Given the description of an element on the screen output the (x, y) to click on. 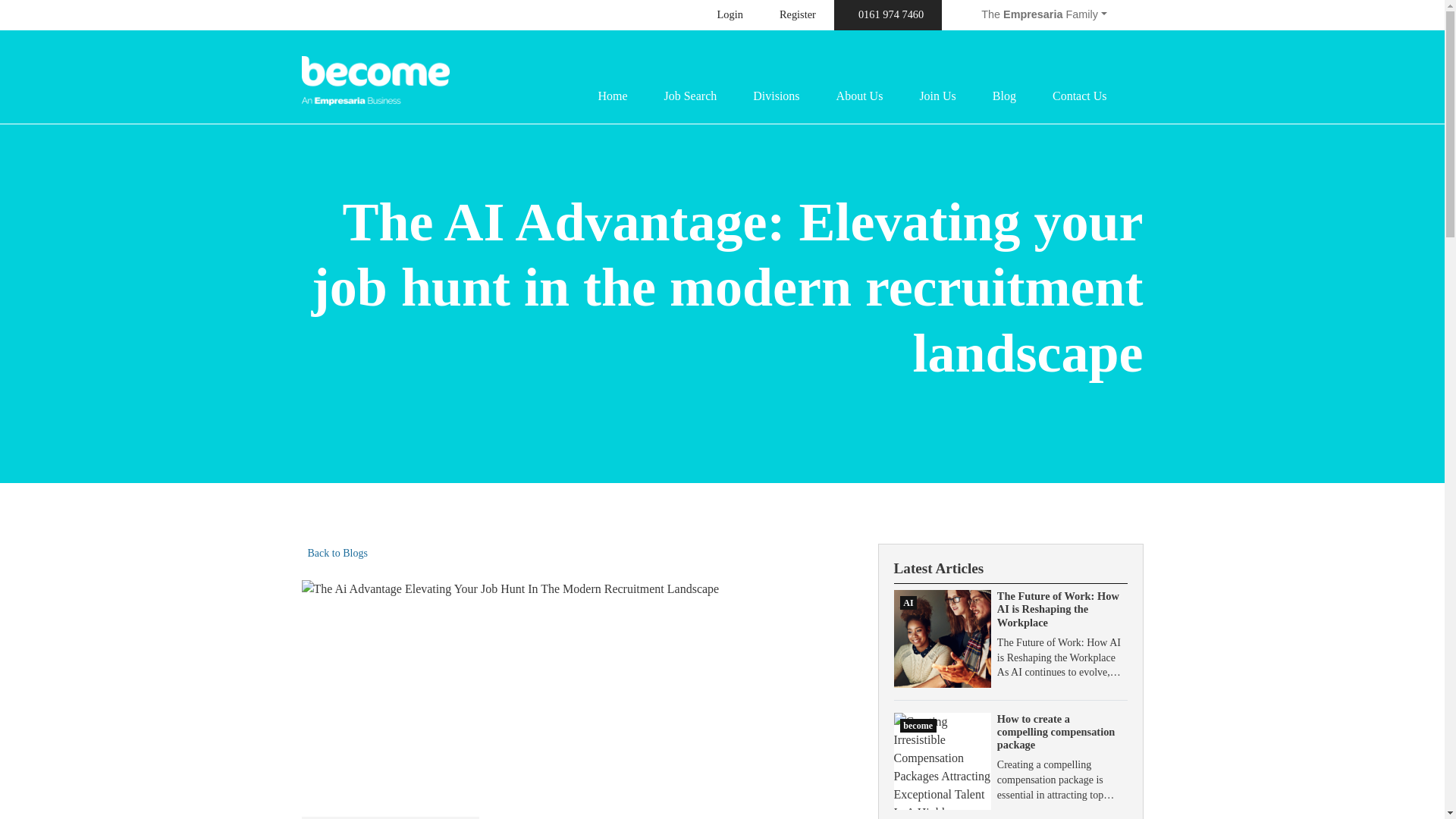
Contact Us (1079, 95)
Register (797, 15)
How to create a compelling compensation package (1056, 731)
0161 974 7460 (888, 15)
Back to Blogs (334, 553)
Blog (1004, 95)
Home (611, 95)
Divisions (775, 95)
About Us (859, 95)
Join Us (936, 95)
